Given the description of an element on the screen output the (x, y) to click on. 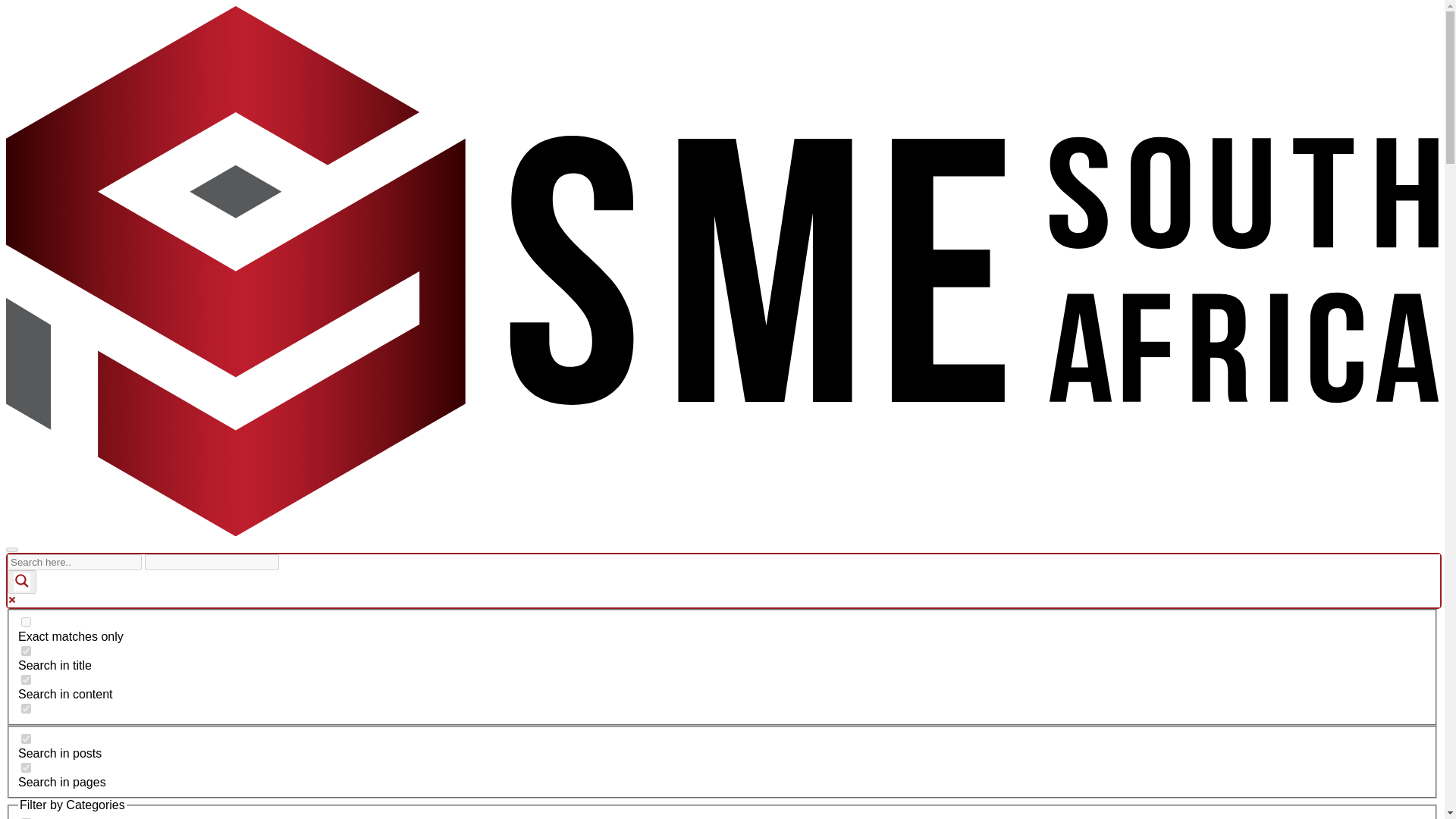
Start search (288, 556)
content (25, 679)
exact (25, 622)
page (25, 767)
title (25, 651)
excerpt (25, 708)
post (25, 738)
